Given the description of an element on the screen output the (x, y) to click on. 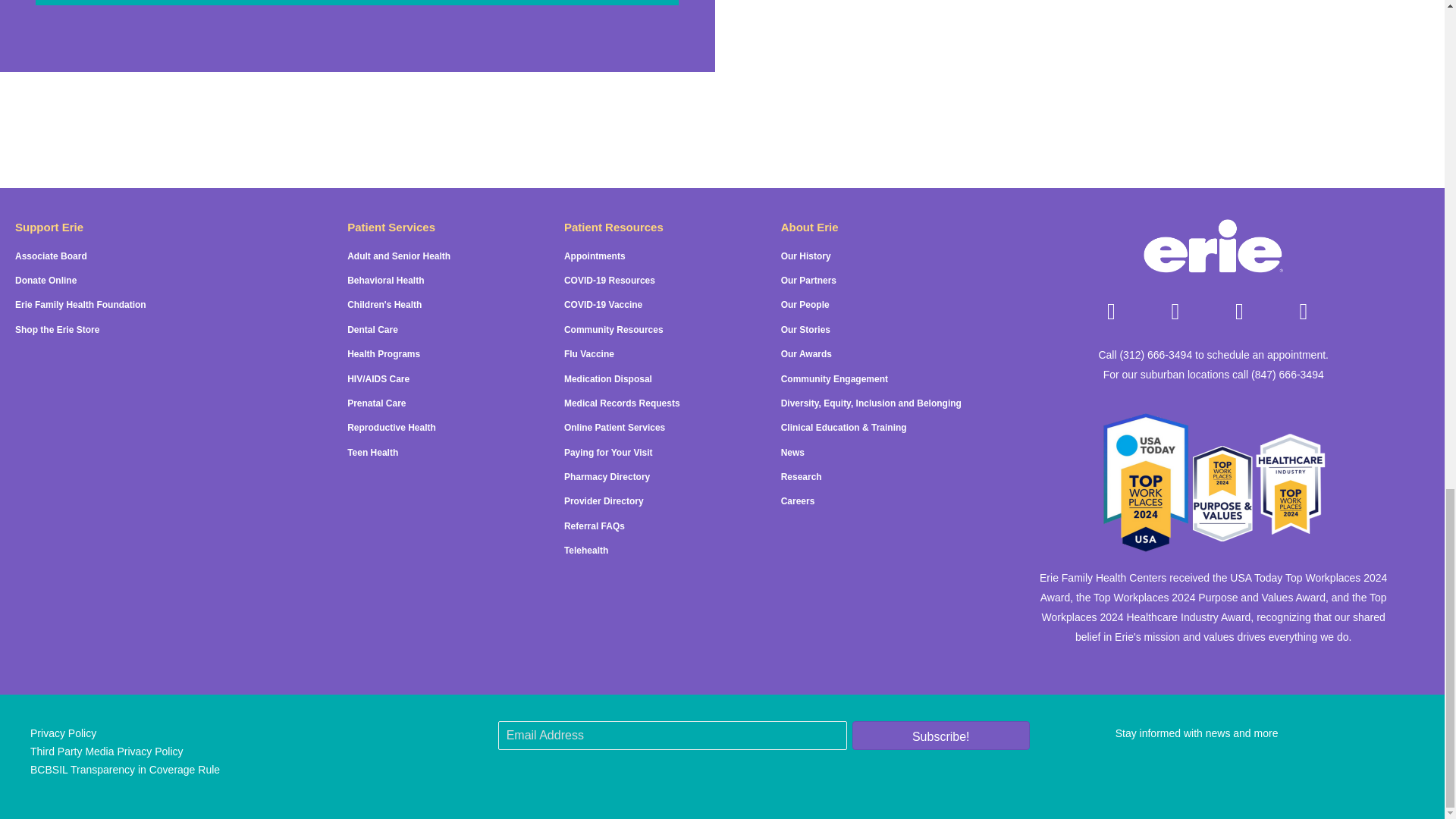
Instagram (1175, 311)
Research (801, 476)
About Erie (809, 226)
Our Stories (804, 329)
Patient Services (391, 226)
Our Awards (805, 353)
Community Engagement (834, 378)
Our People (804, 304)
Vimeo (1303, 311)
Support Erie (48, 226)
